Given the description of an element on the screen output the (x, y) to click on. 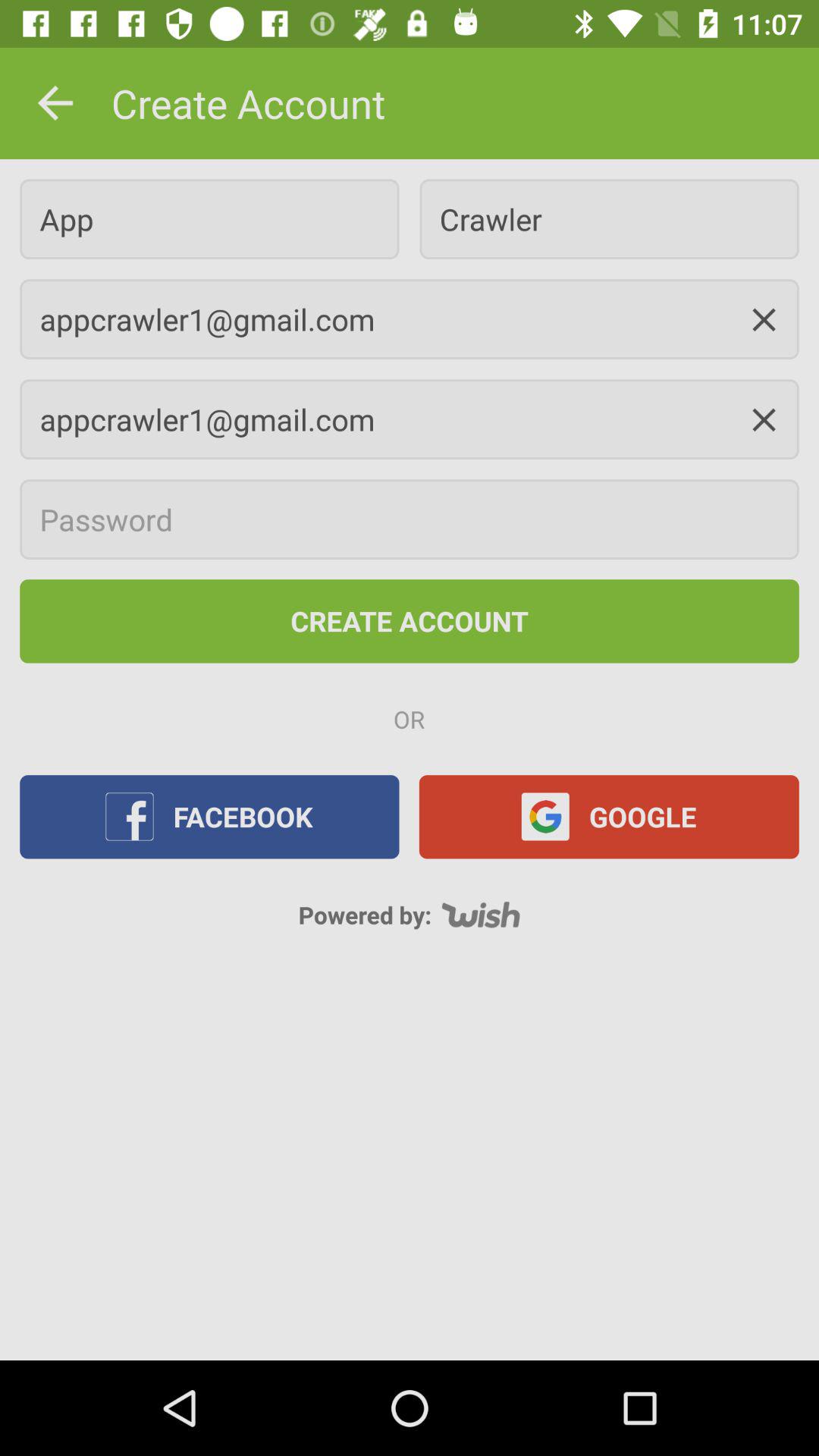
password entry (409, 519)
